Given the description of an element on the screen output the (x, y) to click on. 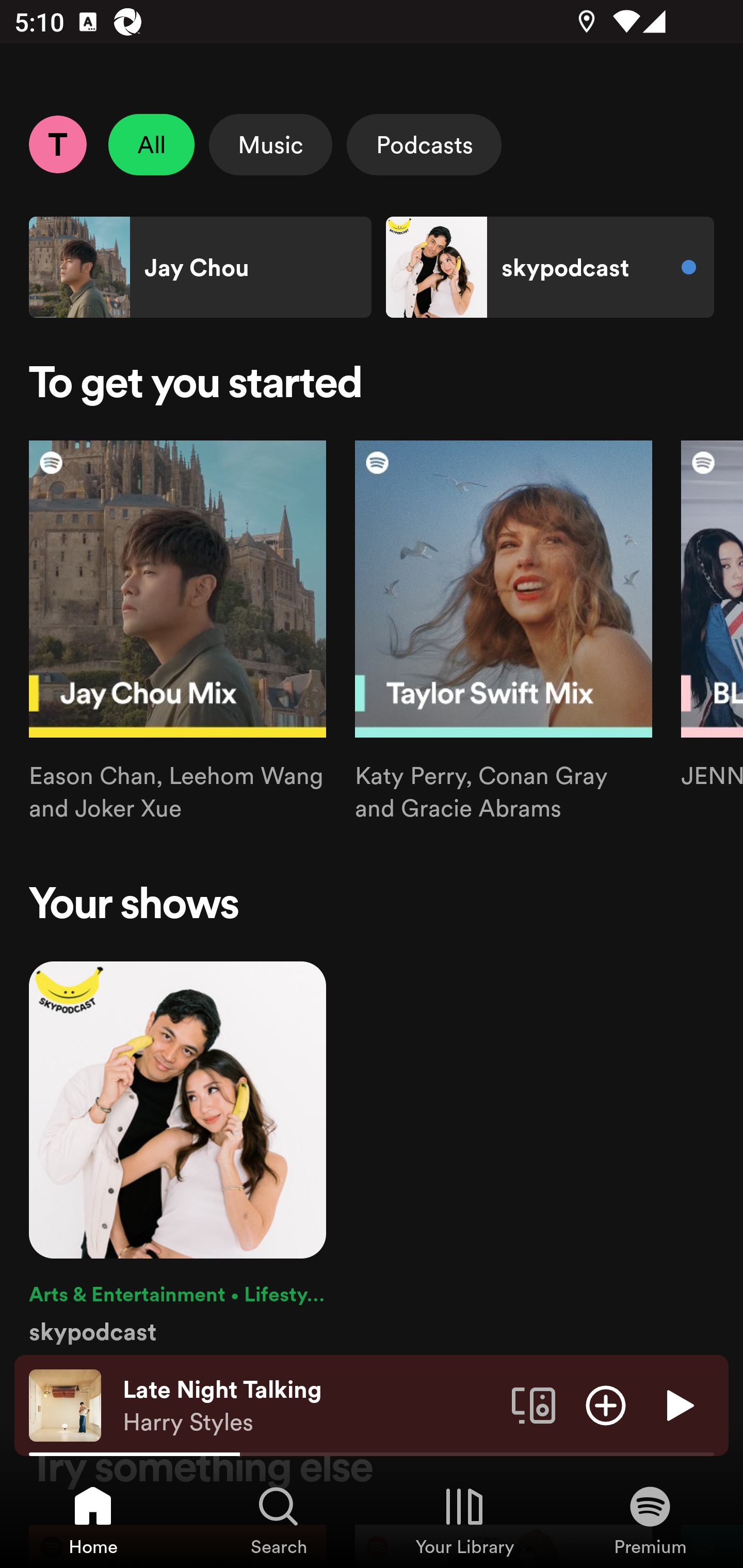
Profile (57, 144)
All Unselect All (151, 144)
Music Select Music (270, 144)
Podcasts Select Podcasts (423, 144)
Jay Chou Shortcut Jay Chou (199, 267)
skypodcast Shortcut skypodcast New content (549, 267)
Late Night Talking Harry Styles (309, 1405)
The cover art of the currently playing track (64, 1404)
Connect to a device. Opens the devices menu (533, 1404)
Add item (605, 1404)
Play (677, 1404)
Home, Tab 1 of 4 Home Home (92, 1519)
Search, Tab 2 of 4 Search Search (278, 1519)
Your Library, Tab 3 of 4 Your Library Your Library (464, 1519)
Premium, Tab 4 of 4 Premium Premium (650, 1519)
